Given the description of an element on the screen output the (x, y) to click on. 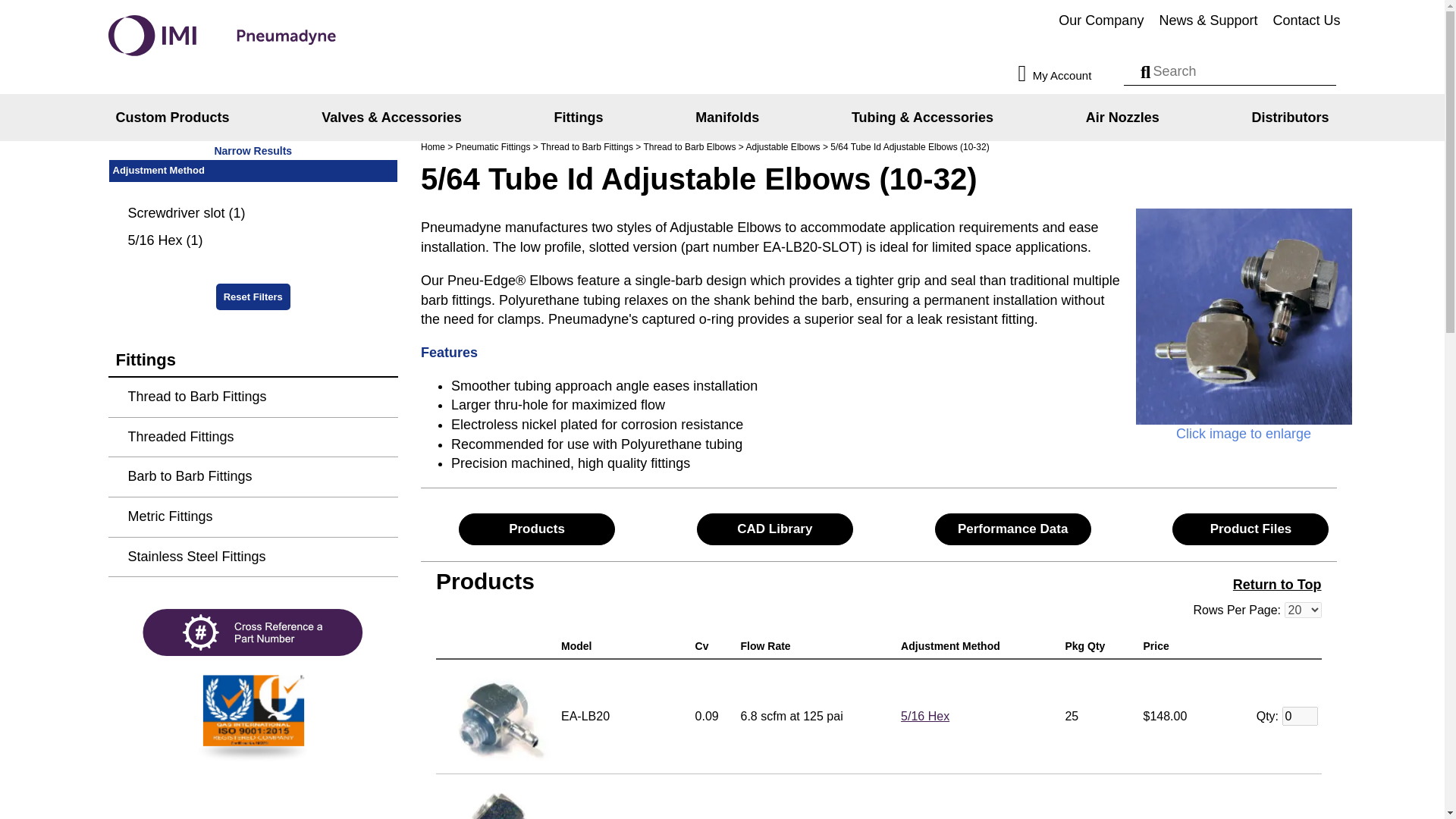
0 (1299, 715)
ISO 9001:2008 Registered Firm (252, 714)
Set Filter (925, 716)
Cross Reference a Part Number (253, 632)
Contact Us (1306, 21)
  My Account (1068, 74)
Our Company (1101, 21)
